Given the description of an element on the screen output the (x, y) to click on. 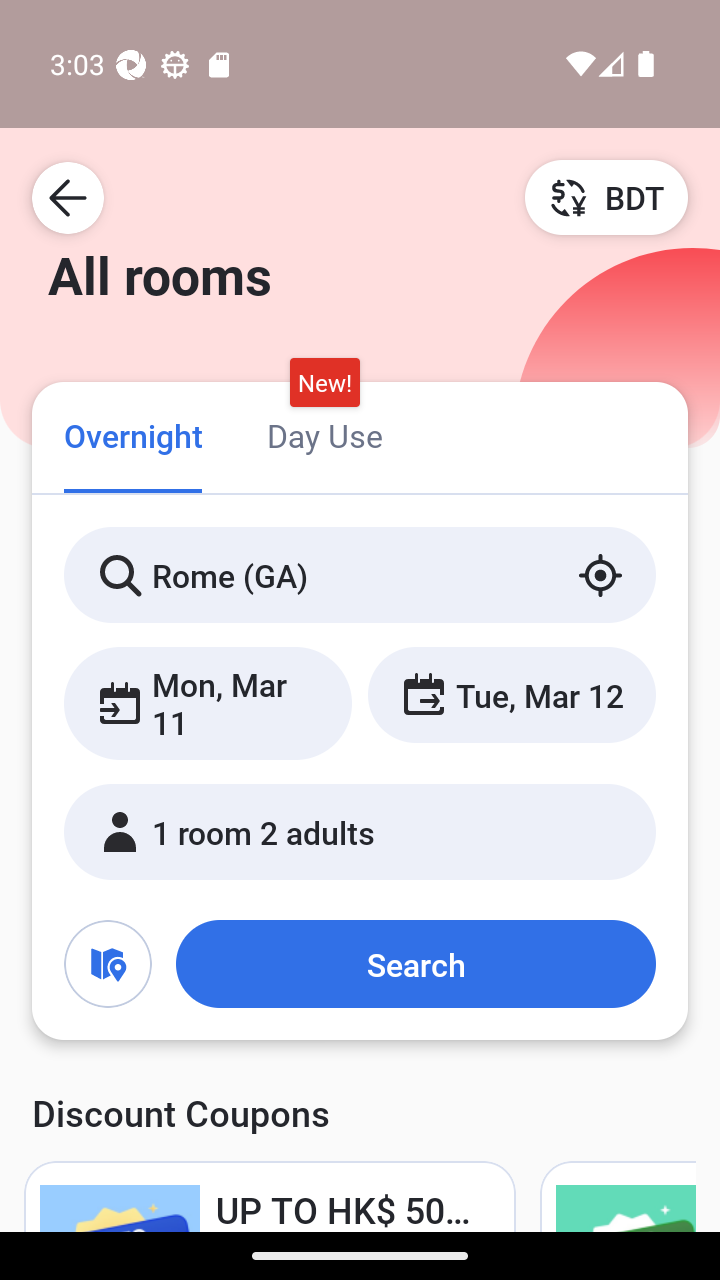
BDT (606, 197)
New! (324, 383)
Day Use (324, 434)
Rome (GA) (359, 575)
Mon, Mar 11 (208, 703)
Tue, Mar 12 (511, 694)
1 room 2 adults (359, 831)
Search (415, 964)
